Given the description of an element on the screen output the (x, y) to click on. 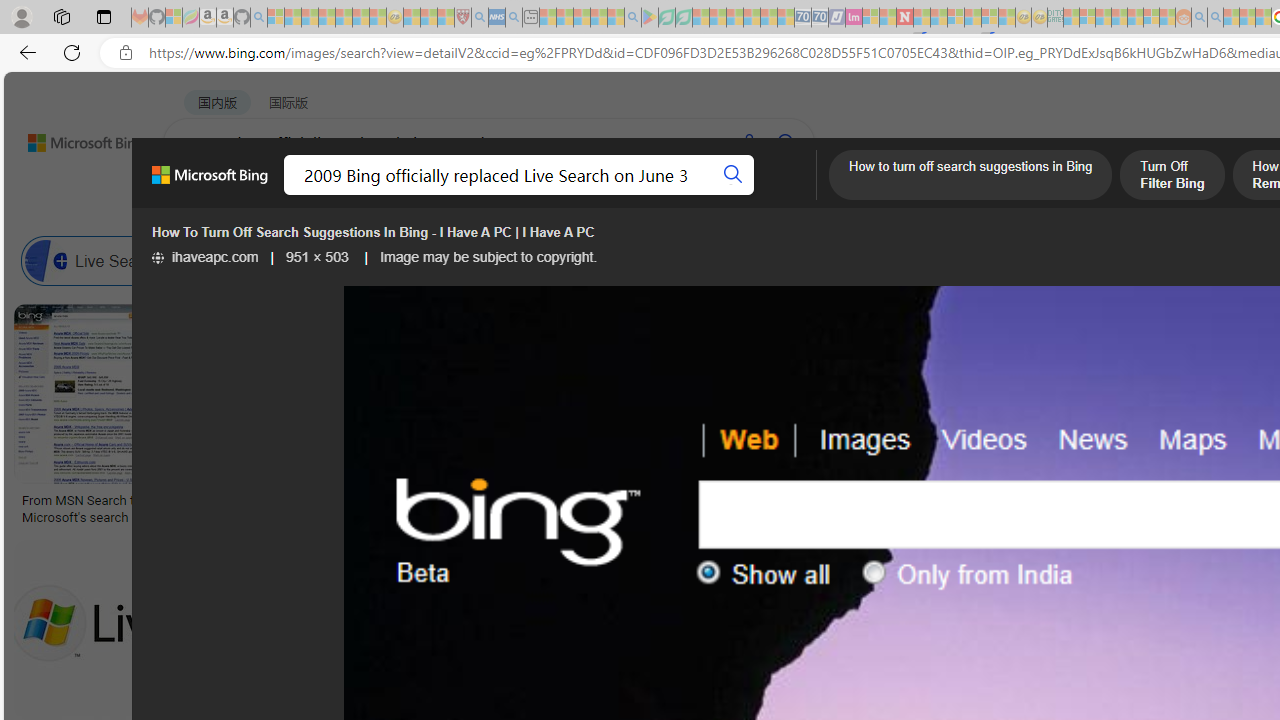
Search button (732, 174)
